Given the description of an element on the screen output the (x, y) to click on. 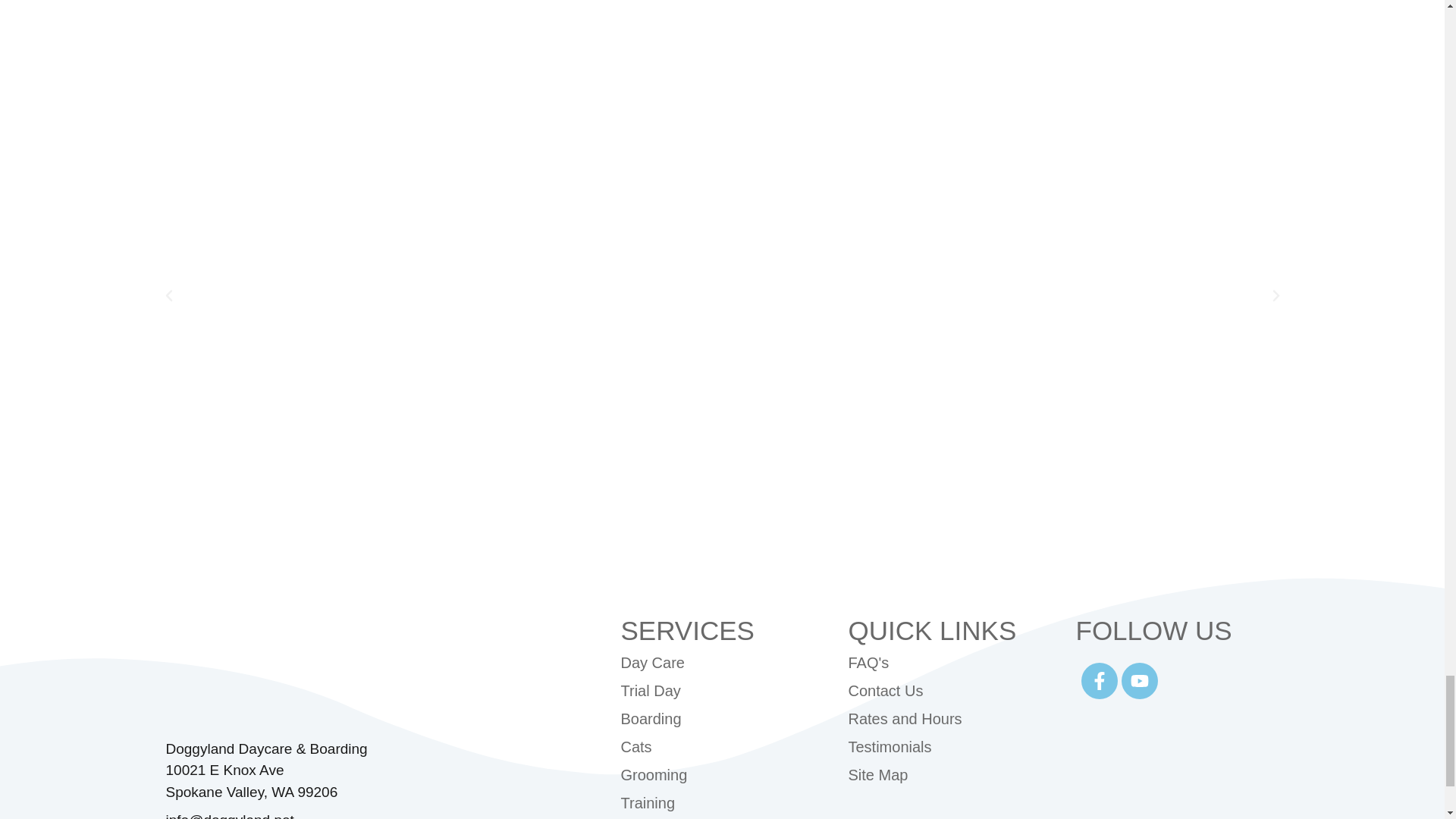
10021 E Knox Ave, Spokane Valley, WA 99206 (722, 18)
doggylandblack (279, 674)
